Given the description of an element on the screen output the (x, y) to click on. 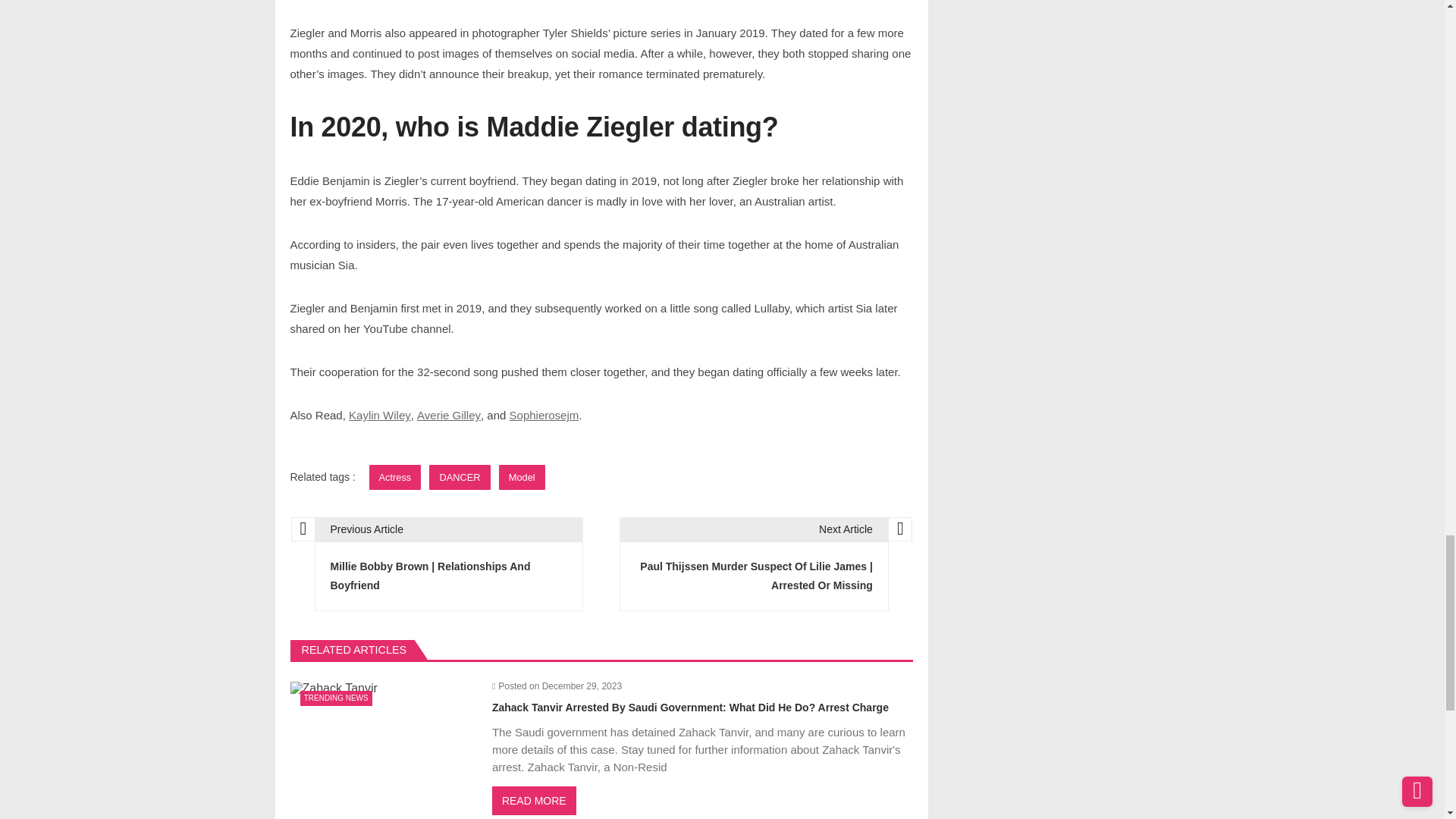
Kaylin Wiley (379, 414)
